Given the description of an element on the screen output the (x, y) to click on. 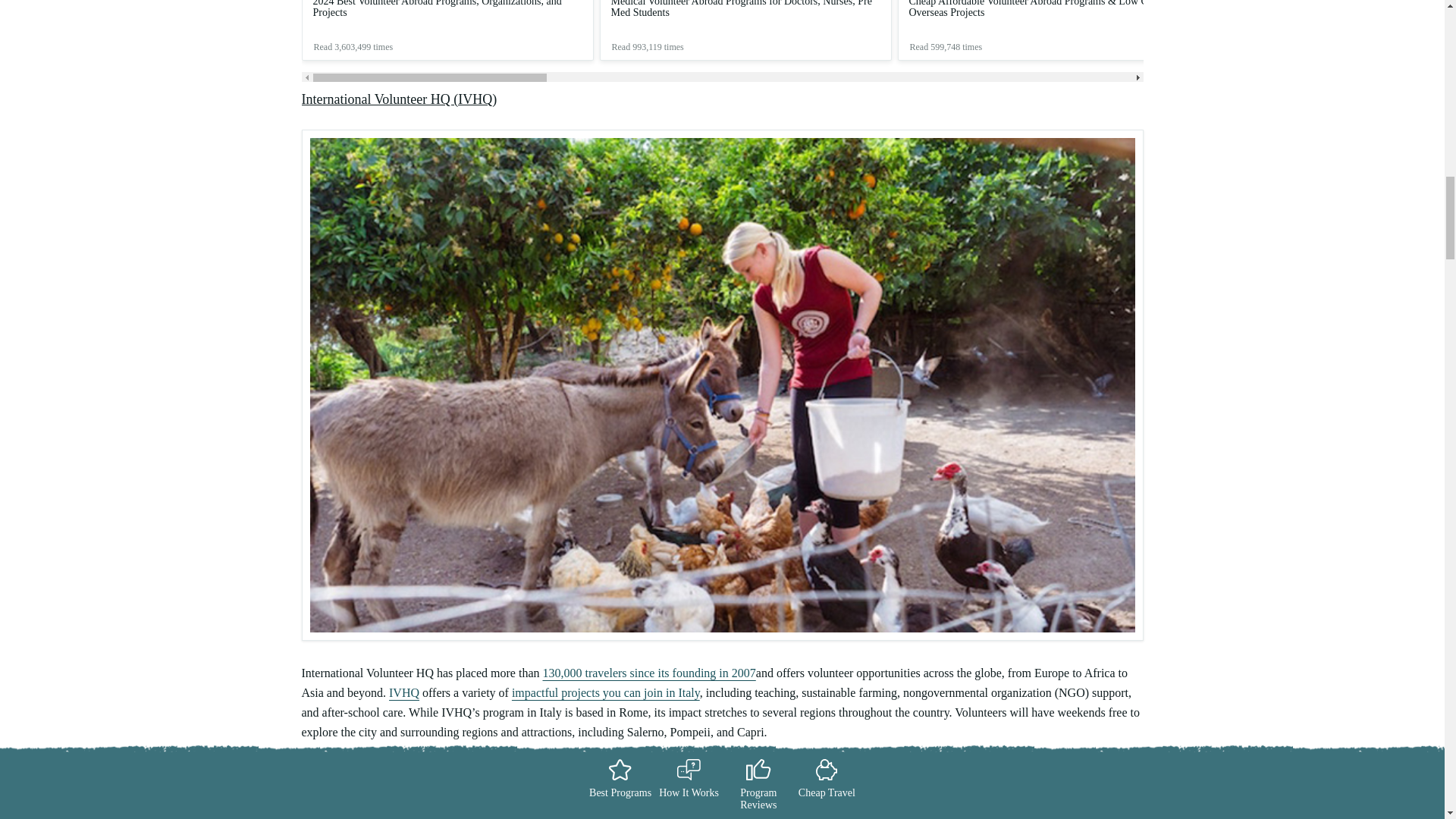
program (359, 785)
130,000 travelers since its founding in 2007 (648, 672)
Teaching English (344, 764)
impactful projects you can join in Italy (606, 692)
IVHQ (403, 692)
